Given the description of an element on the screen output the (x, y) to click on. 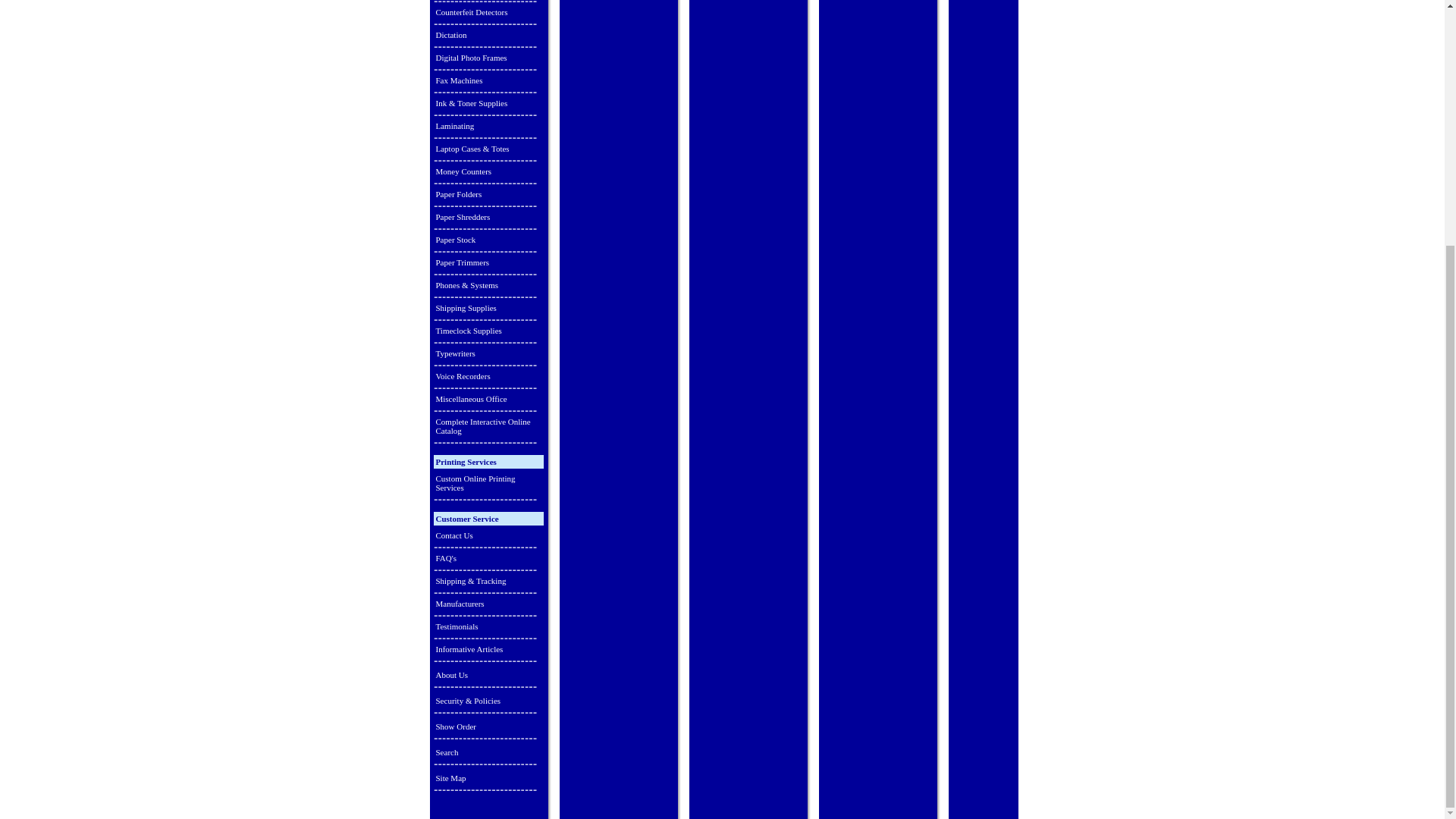
Voice Recorders (487, 376)
Testimonials (487, 626)
Shipping Supplies (487, 307)
Fax Machines (487, 79)
Paper Trimmers (487, 262)
Contact Us (487, 534)
Timeclock Supplies (487, 330)
Miscellaneous Office (487, 398)
Custom Online Printing Services (487, 482)
FAQ's (487, 557)
